Given the description of an element on the screen output the (x, y) to click on. 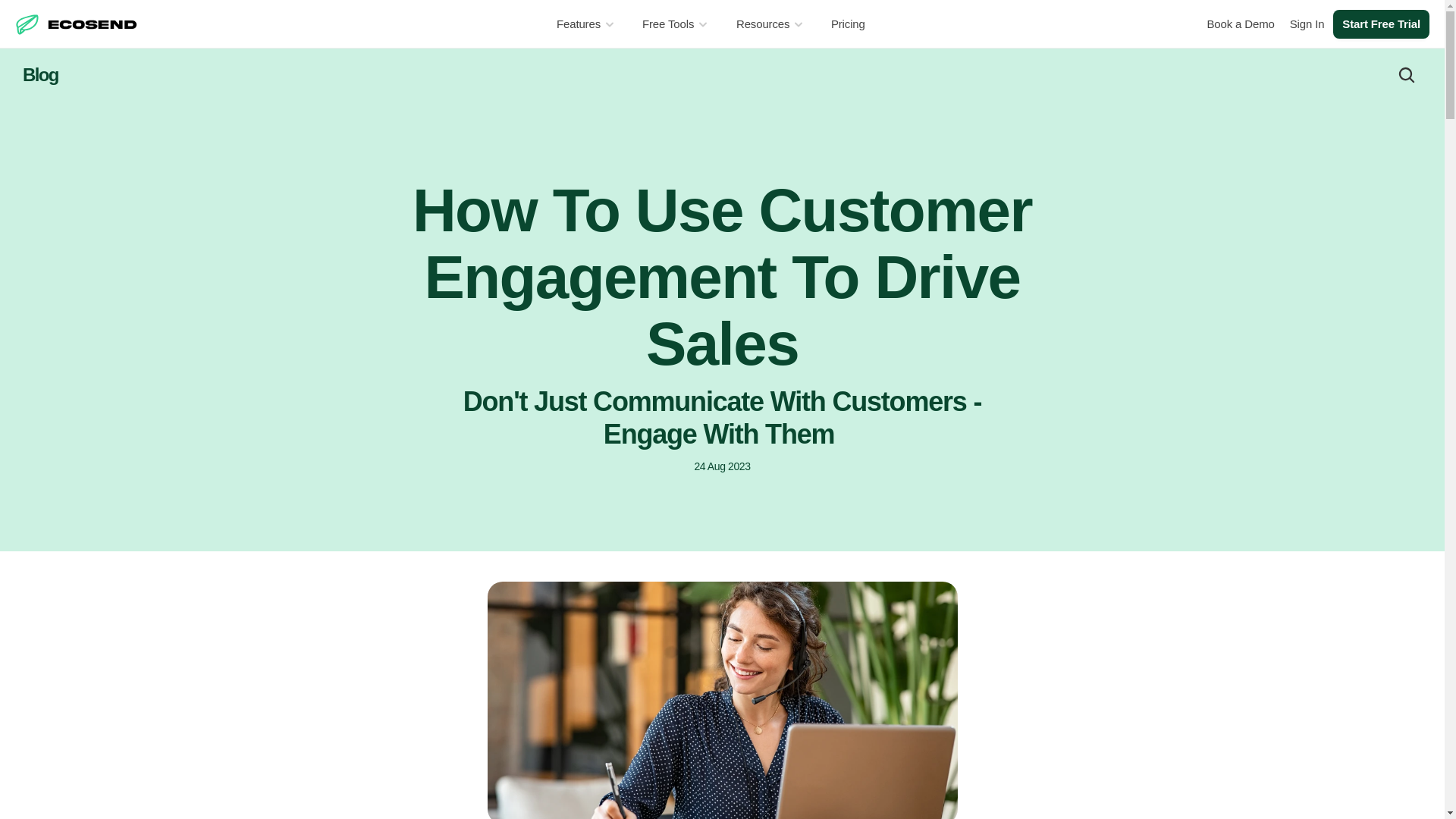
Start Free Trial (1381, 23)
Sign In (1307, 23)
Pricing (847, 23)
Book a Demo (1239, 23)
Blog (40, 74)
